Given the description of an element on the screen output the (x, y) to click on. 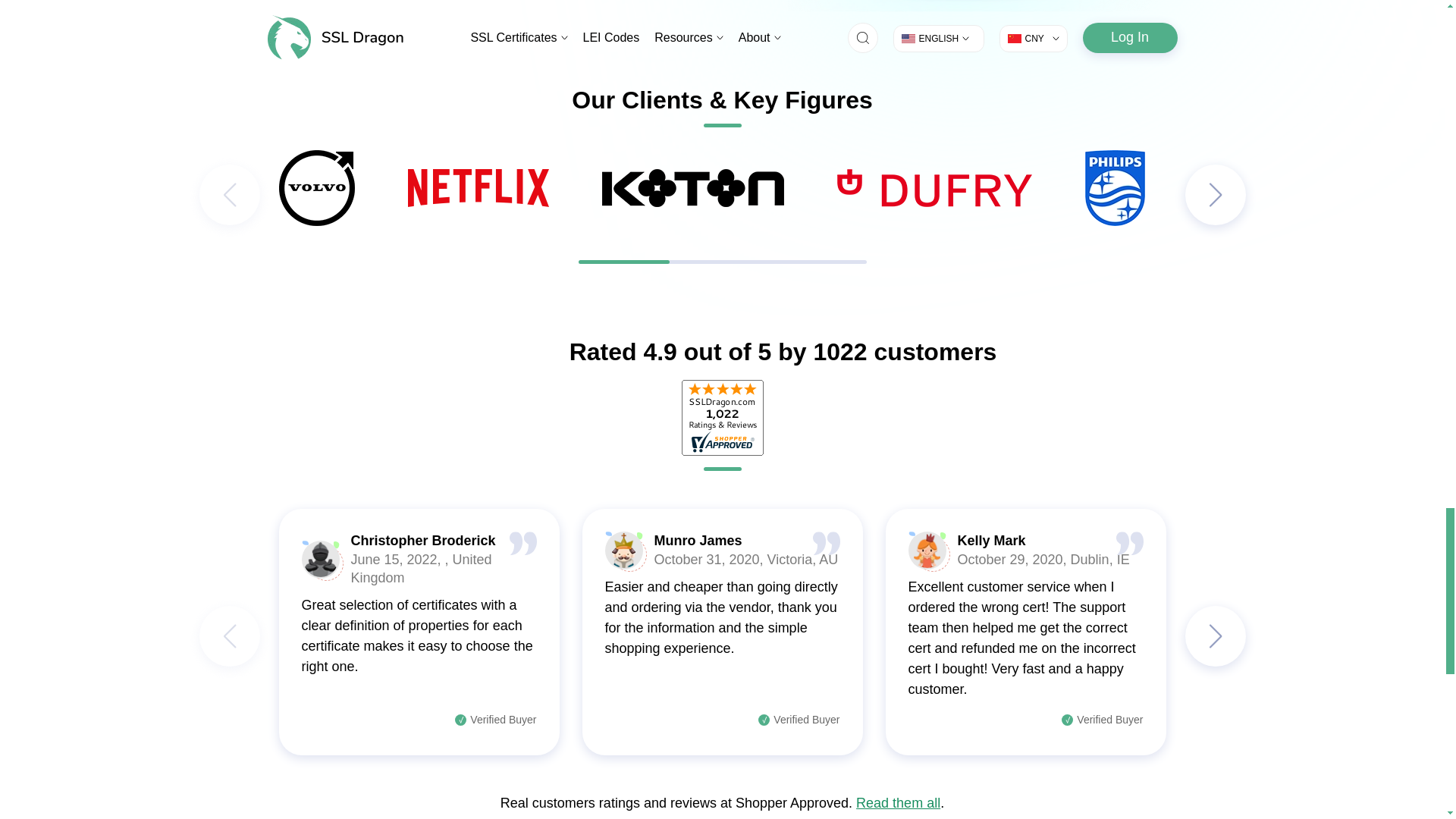
Rating of this product is 4.9 out of 5. (505, 351)
